Given the description of an element on the screen output the (x, y) to click on. 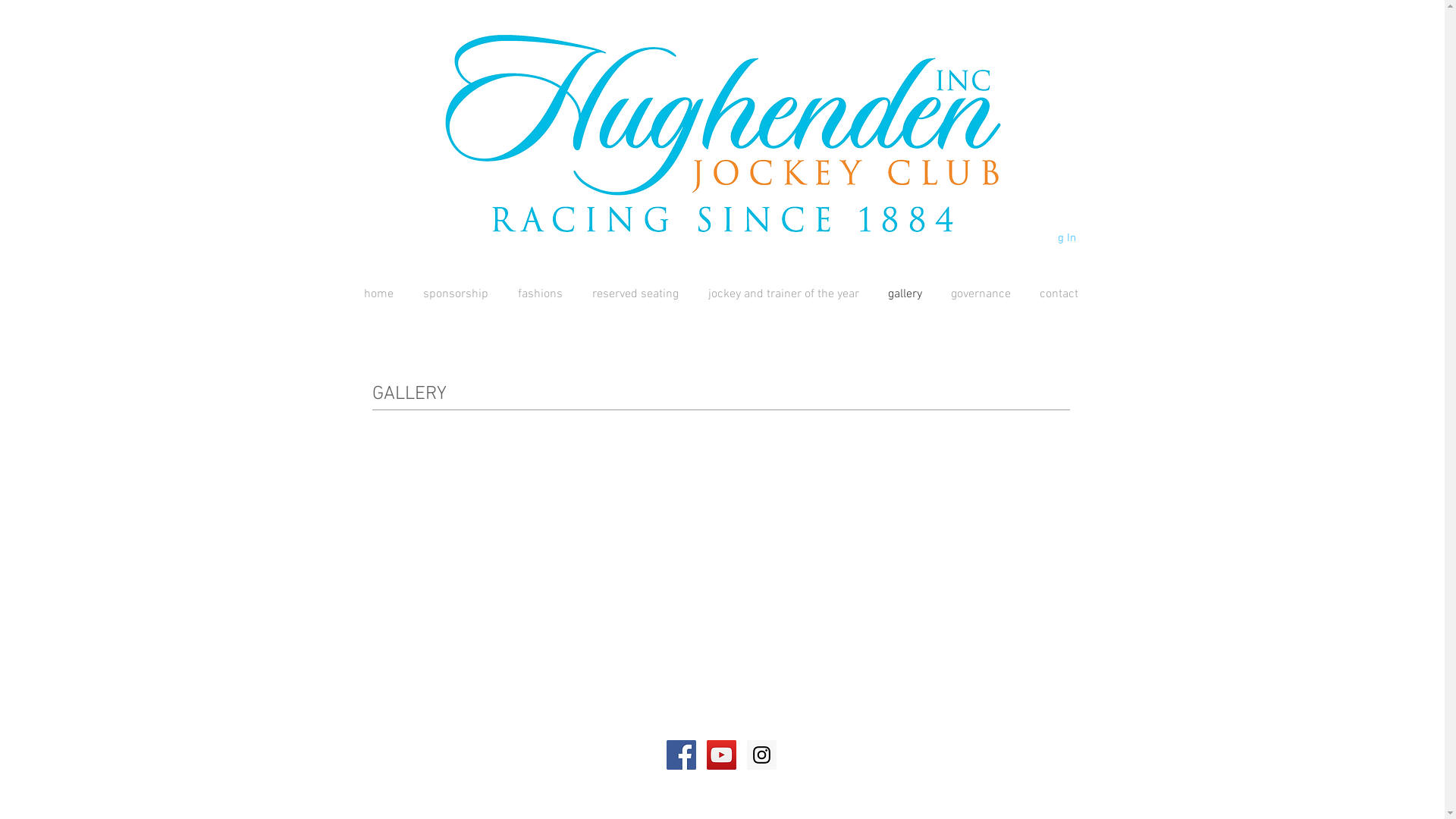
Wix.com Element type: text (589, 749)
jockey and trainer of the year Element type: text (782, 294)
reserved seating Element type: text (635, 294)
sponsorship Element type: text (454, 294)
home Element type: text (377, 294)
fashions Element type: text (540, 294)
governance Element type: text (979, 294)
Log In Element type: text (1044, 237)
gallery Element type: text (904, 294)
contact Element type: text (1058, 294)
